Given the description of an element on the screen output the (x, y) to click on. 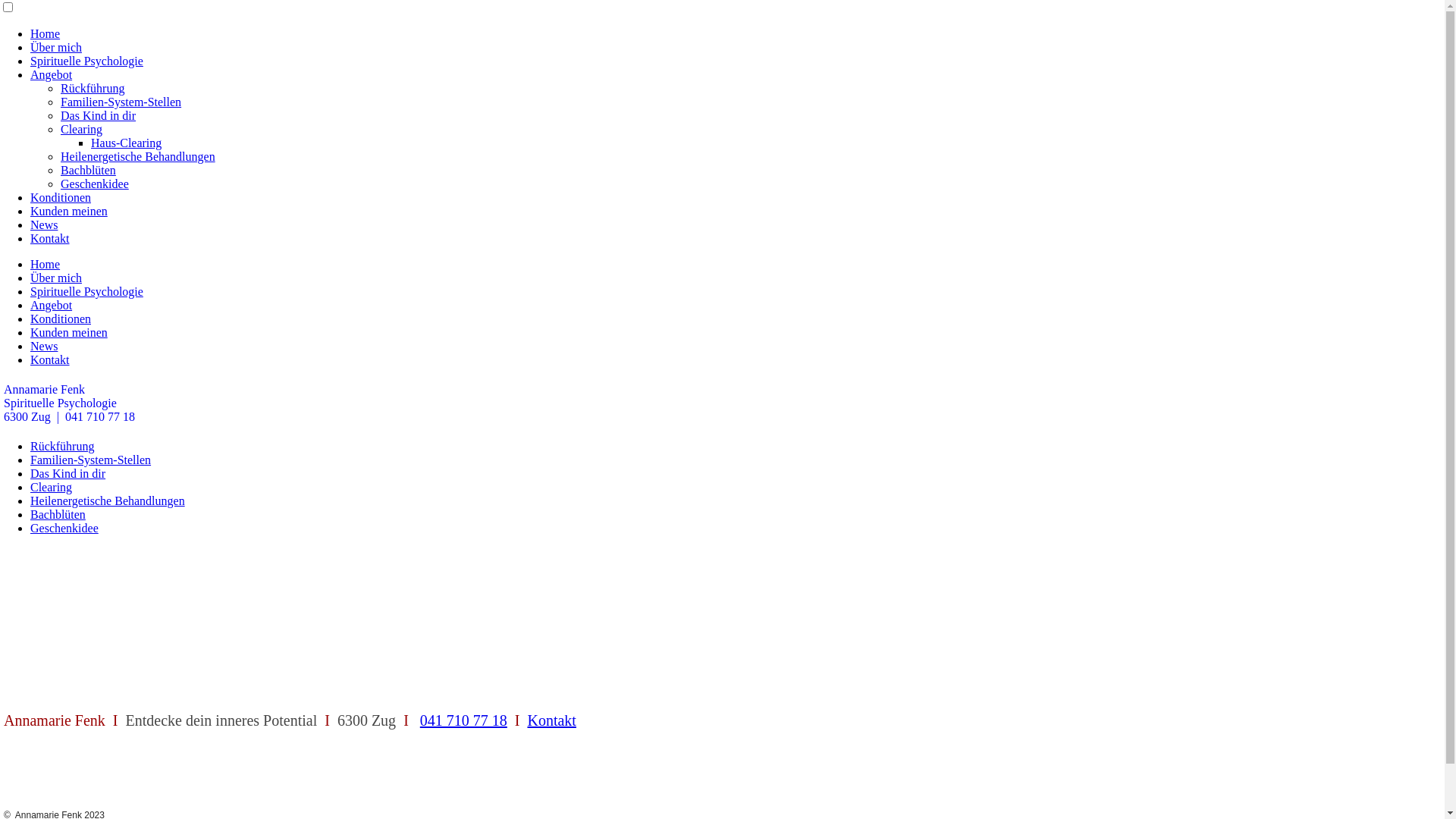
041 710 77 18 Element type: text (463, 720)
Familien-System-Stellen Element type: text (120, 101)
News Element type: text (43, 345)
Kunden meinen Element type: text (68, 332)
Haus-Clearing Element type: text (126, 142)
Home Element type: text (44, 33)
Geschenkidee Element type: text (64, 527)
Clearing Element type: text (81, 128)
Spirituelle Psychologie Element type: text (86, 291)
Kontakt Element type: text (49, 359)
Das Kind in dir Element type: text (97, 115)
Kontakt Element type: text (551, 720)
Home Element type: text (44, 263)
Clearing Element type: text (51, 486)
Heilenergetische Behandlungen Element type: text (107, 500)
Angebot Element type: text (51, 74)
Familien-System-Stellen Element type: text (90, 459)
Kunden meinen Element type: text (68, 210)
Heilenergetische Behandlungen Element type: text (137, 156)
News Element type: text (43, 224)
Konditionen Element type: text (60, 318)
Spirituelle Psychologie Element type: text (86, 60)
Angebot Element type: text (51, 304)
Geschenkidee Element type: text (94, 183)
Konditionen Element type: text (60, 197)
Kontakt Element type: text (49, 238)
Das Kind in dir Element type: text (67, 473)
